Given the description of an element on the screen output the (x, y) to click on. 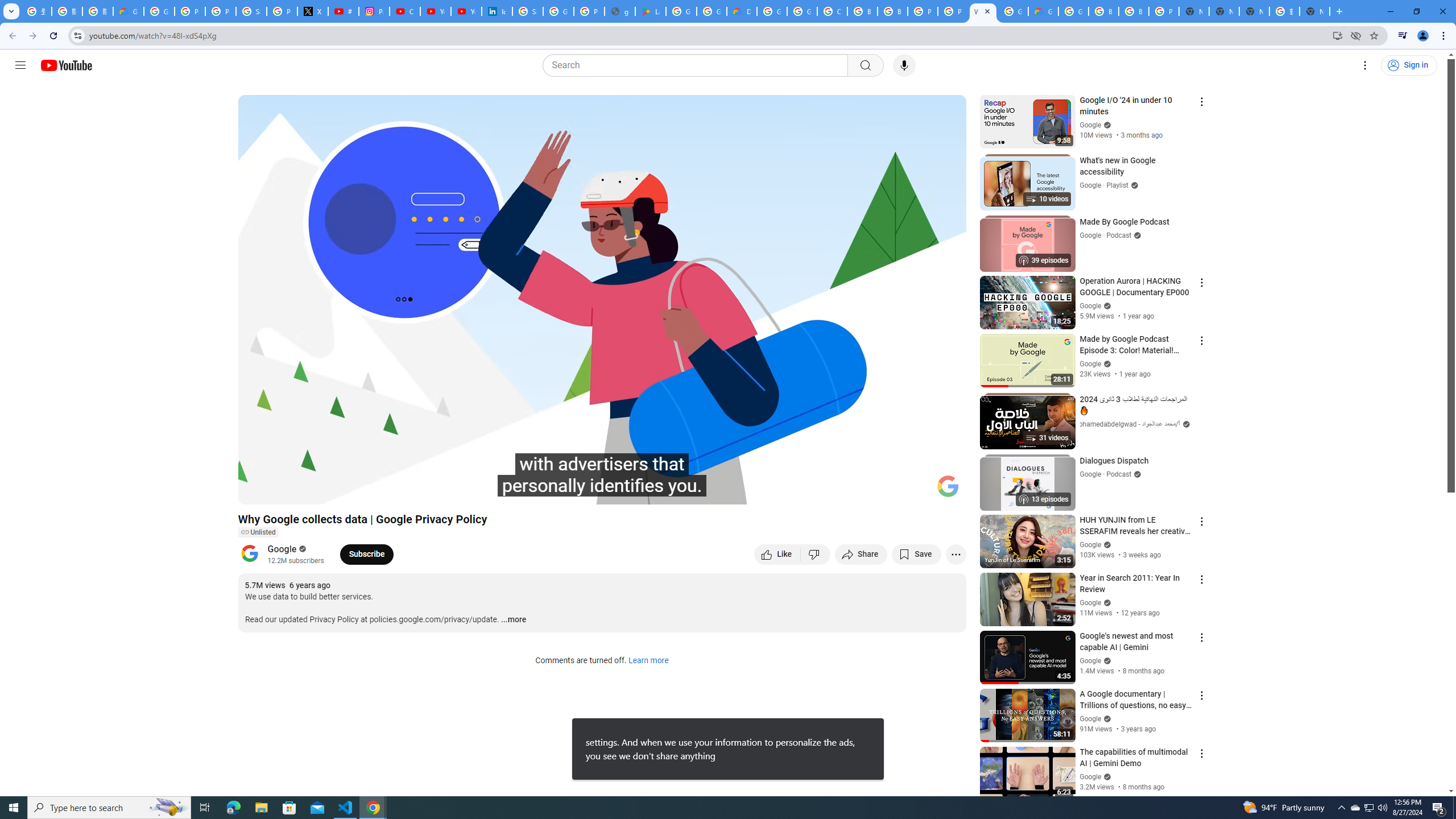
New Tab (1193, 11)
Search with your voice (903, 65)
Google Cloud Platform (1012, 11)
google_privacy_policy_en.pdf (619, 11)
Search (697, 65)
Save to playlist (915, 554)
Subtitles/closed captions unavailable (836, 490)
Settings (1365, 65)
Miniplayer (i) (890, 490)
